Given the description of an element on the screen output the (x, y) to click on. 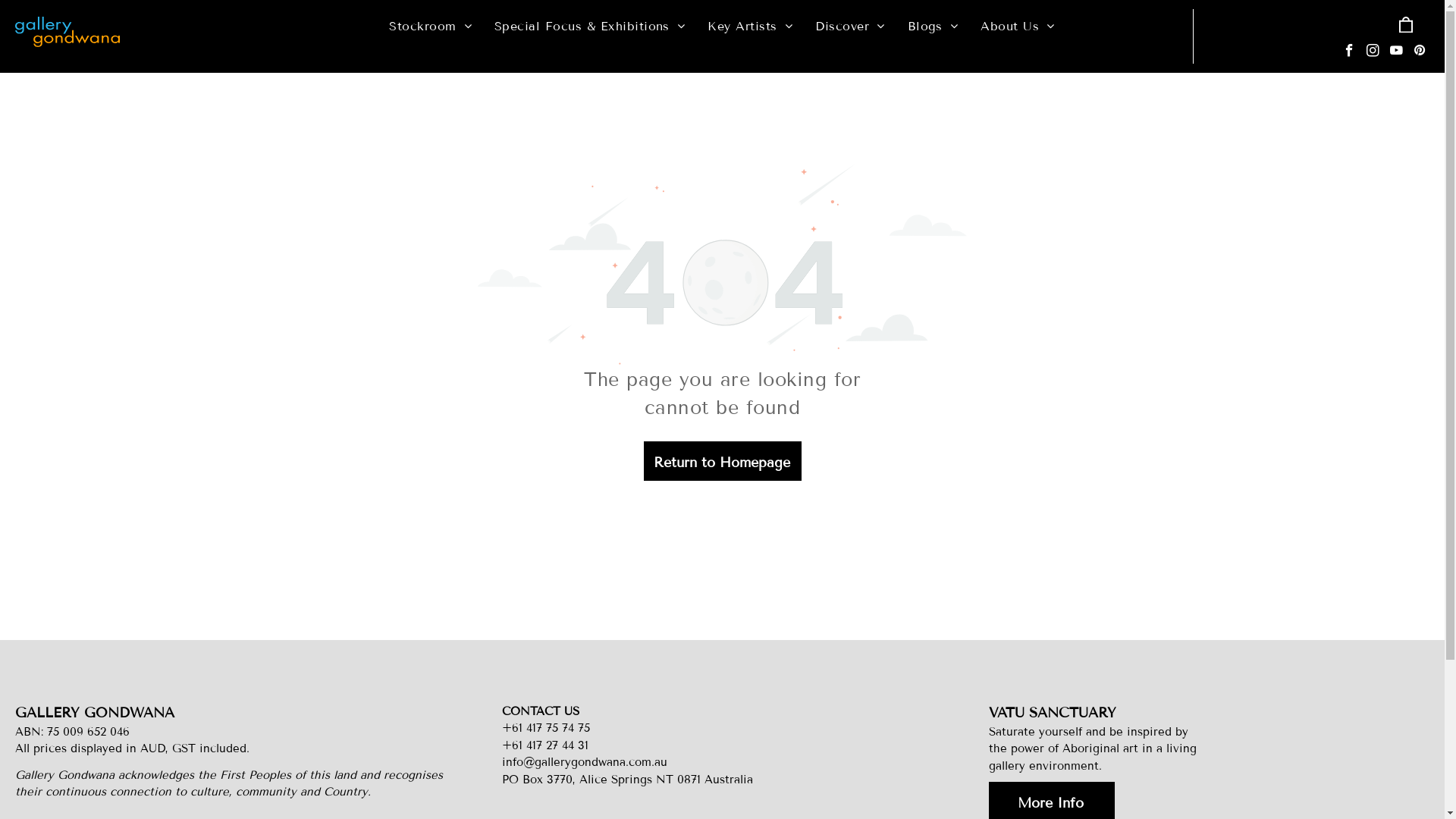
Key Artists Element type: text (749, 26)
Discover Element type: text (849, 26)
About Us Element type: text (1017, 26)
+61 417 27 44 31 Element type: text (545, 745)
Stockroom Element type: text (430, 26)
info@gallerygondwana.com.au Element type: text (584, 761)
Special Focus & Exhibitions Element type: text (589, 26)
Return to Homepage Element type: text (721, 460)
+61 417 75 74 75 Element type: text (545, 727)
VATU SANCTUARY Element type: text (1052, 712)
Blogs Element type: text (932, 26)
